Given the description of an element on the screen output the (x, y) to click on. 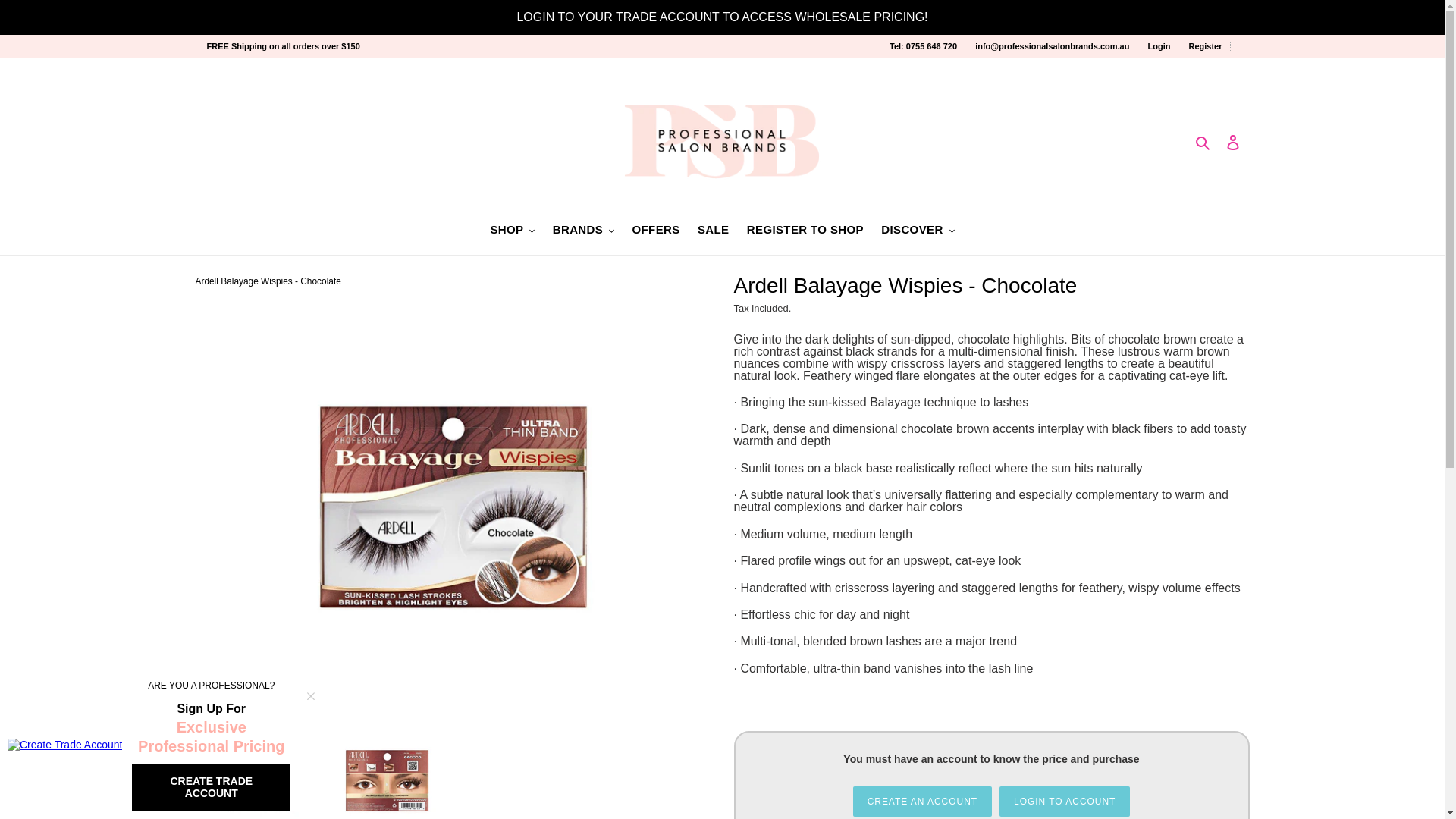
Log in (1233, 141)
Search (1204, 140)
Register (1209, 46)
Popup CTA (166, 744)
Search (1203, 141)
Login (1162, 46)
SHOP (511, 230)
Tel: 0755 646 720 (927, 46)
